Given the description of an element on the screen output the (x, y) to click on. 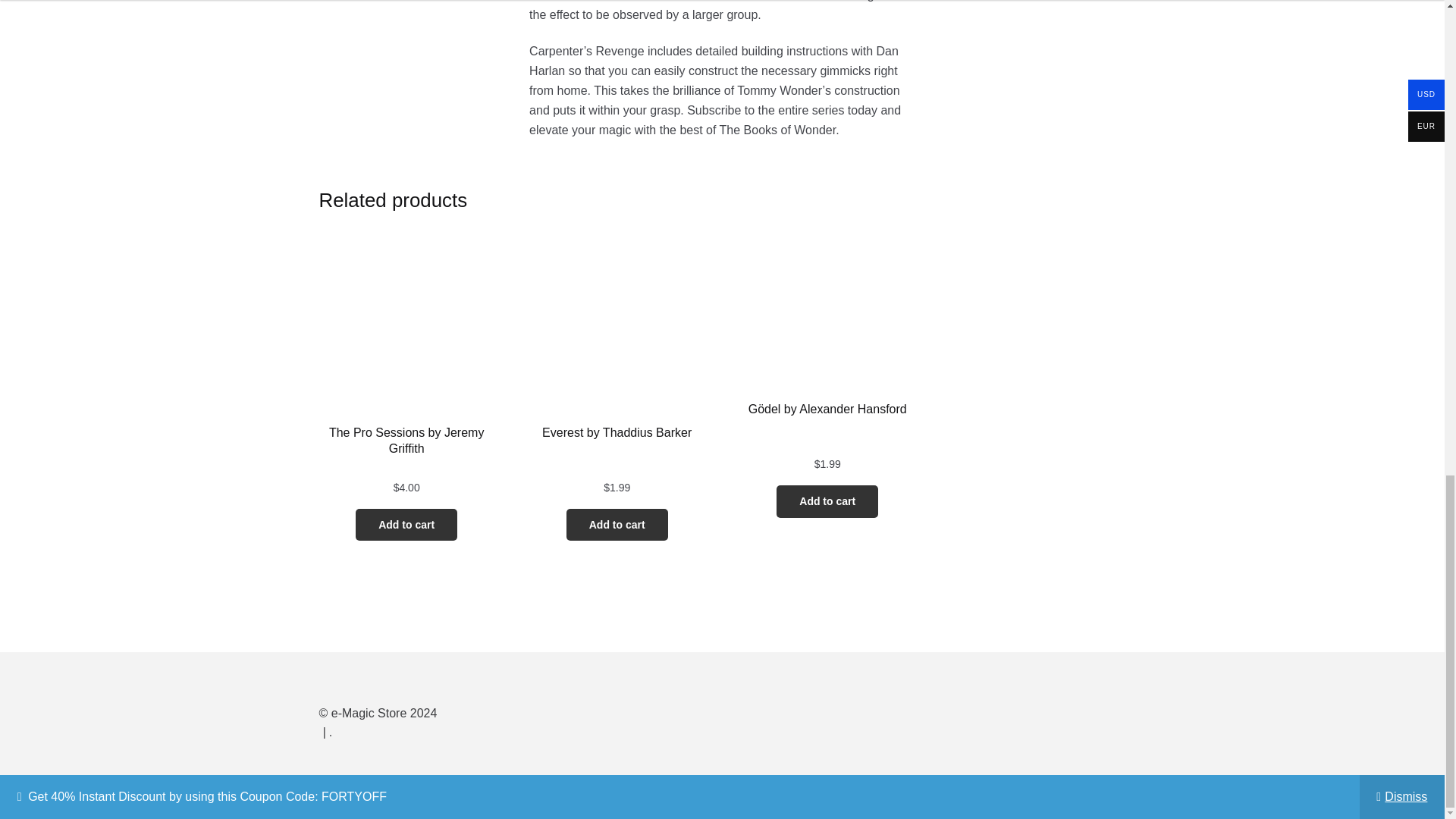
Add to cart (826, 501)
Add to cart (406, 524)
Add to cart (617, 524)
